Given the description of an element on the screen output the (x, y) to click on. 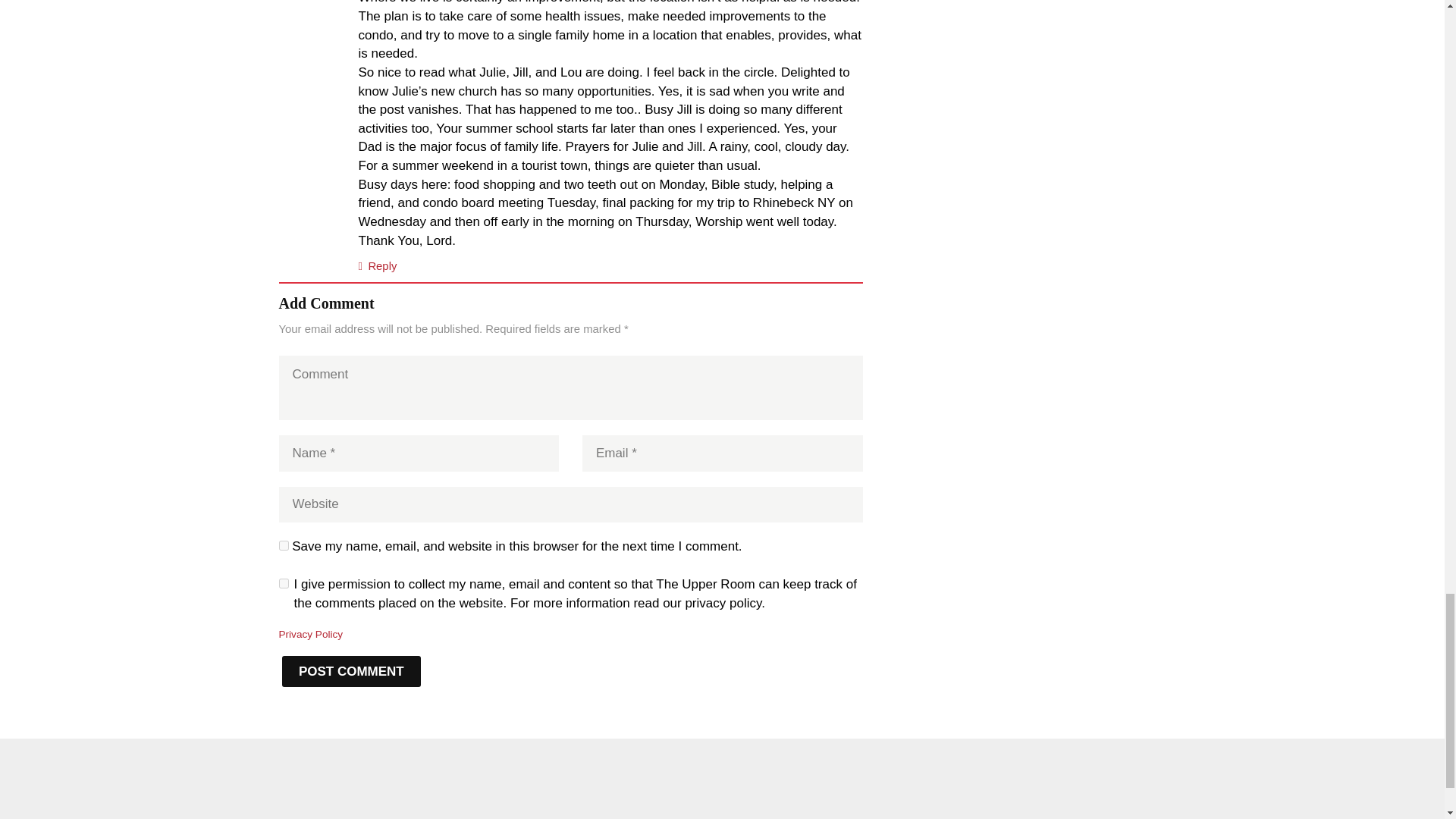
yes (283, 545)
Post Comment (352, 671)
1 (283, 583)
